Given the description of an element on the screen output the (x, y) to click on. 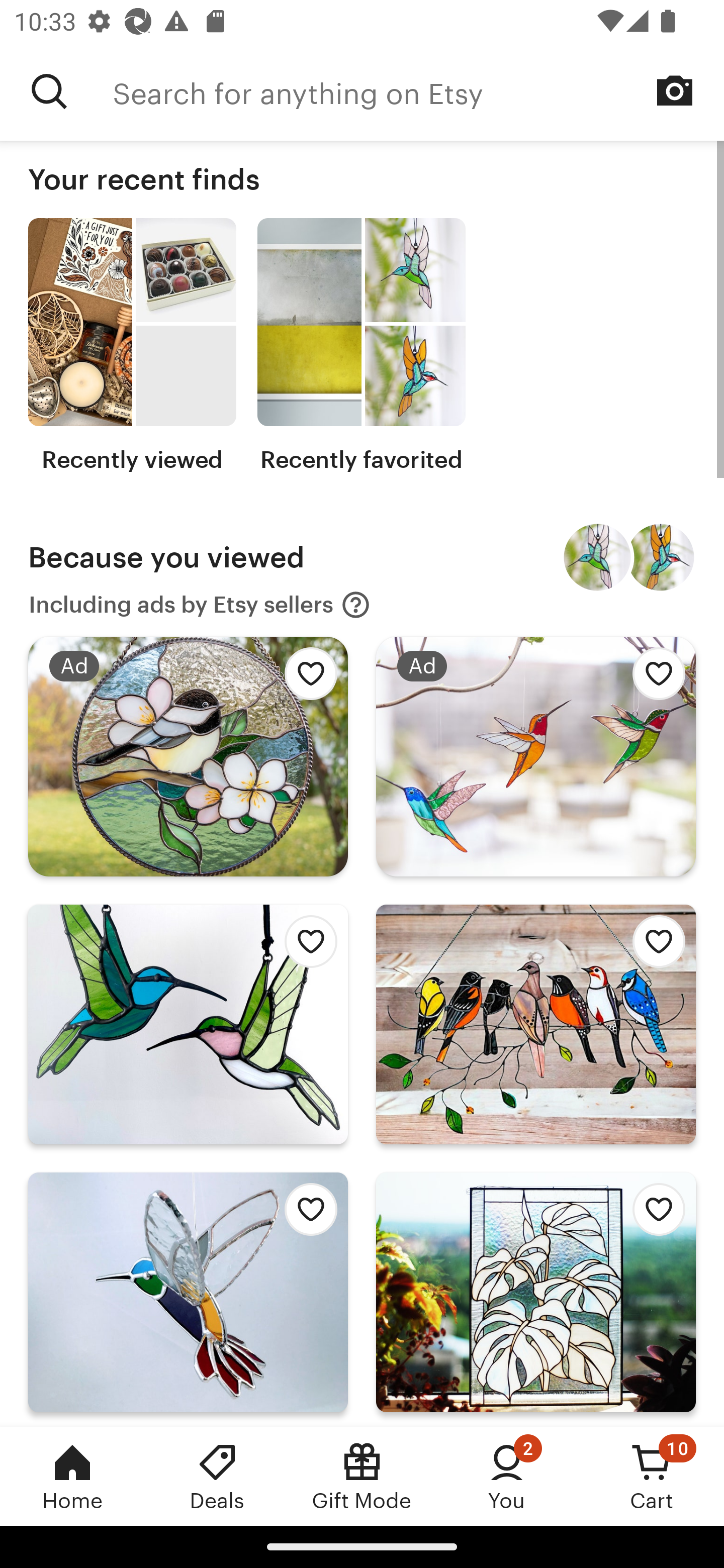
Search for anything on Etsy (49, 91)
Search by image (674, 90)
Search for anything on Etsy (418, 91)
Recently viewed (132, 345)
Recently favorited (361, 345)
Including ads by Etsy sellers (199, 604)
Deals (216, 1475)
Gift Mode (361, 1475)
You, 2 new notifications You (506, 1475)
Cart, 10 new notifications Cart (651, 1475)
